Given the description of an element on the screen output the (x, y) to click on. 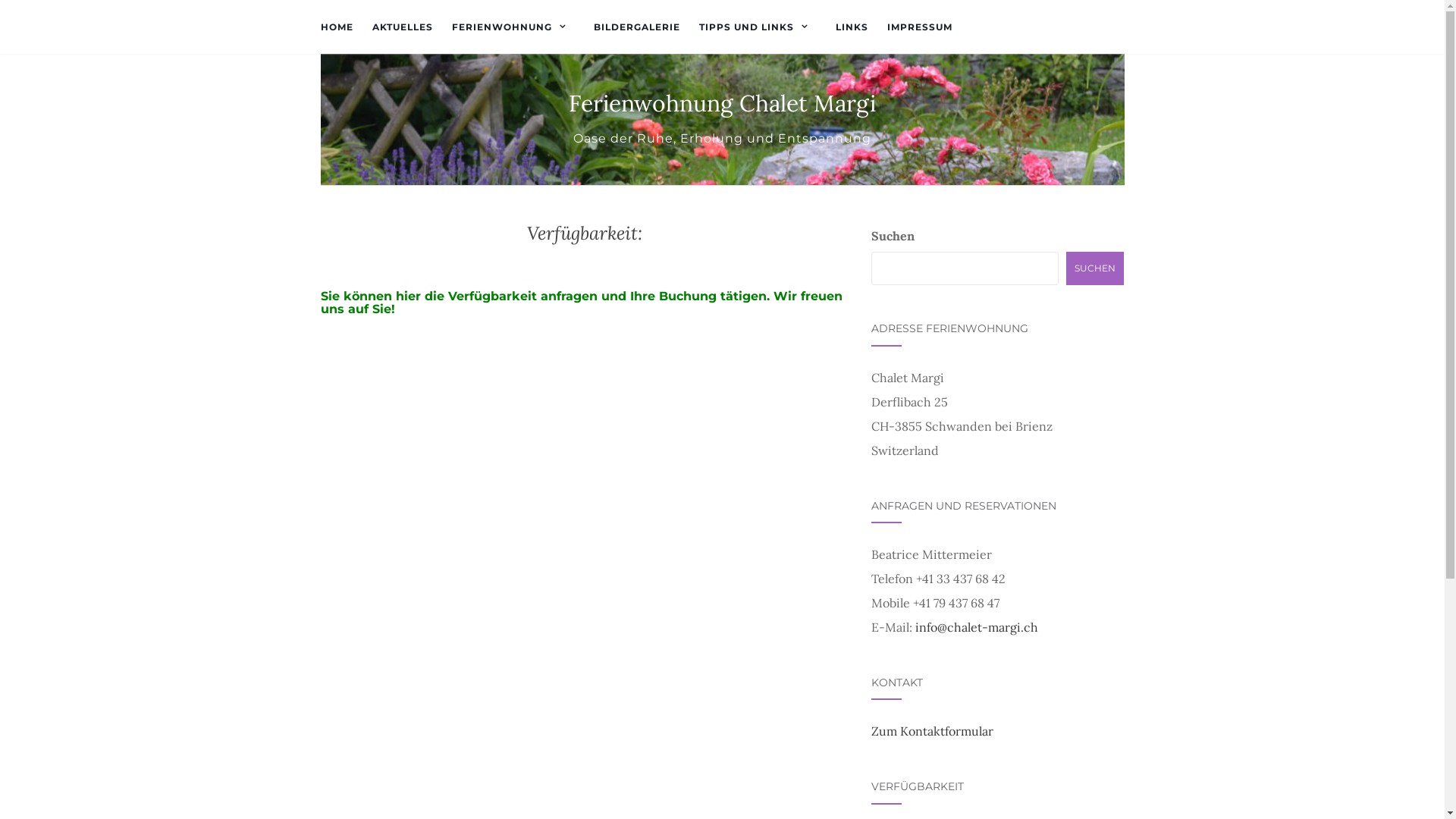
FERIENWOHNUNG Element type: text (512, 26)
AKTUELLES Element type: text (401, 26)
TIPPS UND LINKS Element type: text (757, 26)
IMPRESSUM Element type: text (919, 26)
BILDERGALERIE Element type: text (636, 26)
info@chalet-margi.ch Element type: text (976, 626)
Zum Kontaktformular Element type: text (932, 730)
LINKS Element type: text (851, 26)
SUCHEN Element type: text (1094, 268)
HOME Element type: text (336, 26)
Ferienwohnung Chalet Margi Element type: text (721, 102)
